Given the description of an element on the screen output the (x, y) to click on. 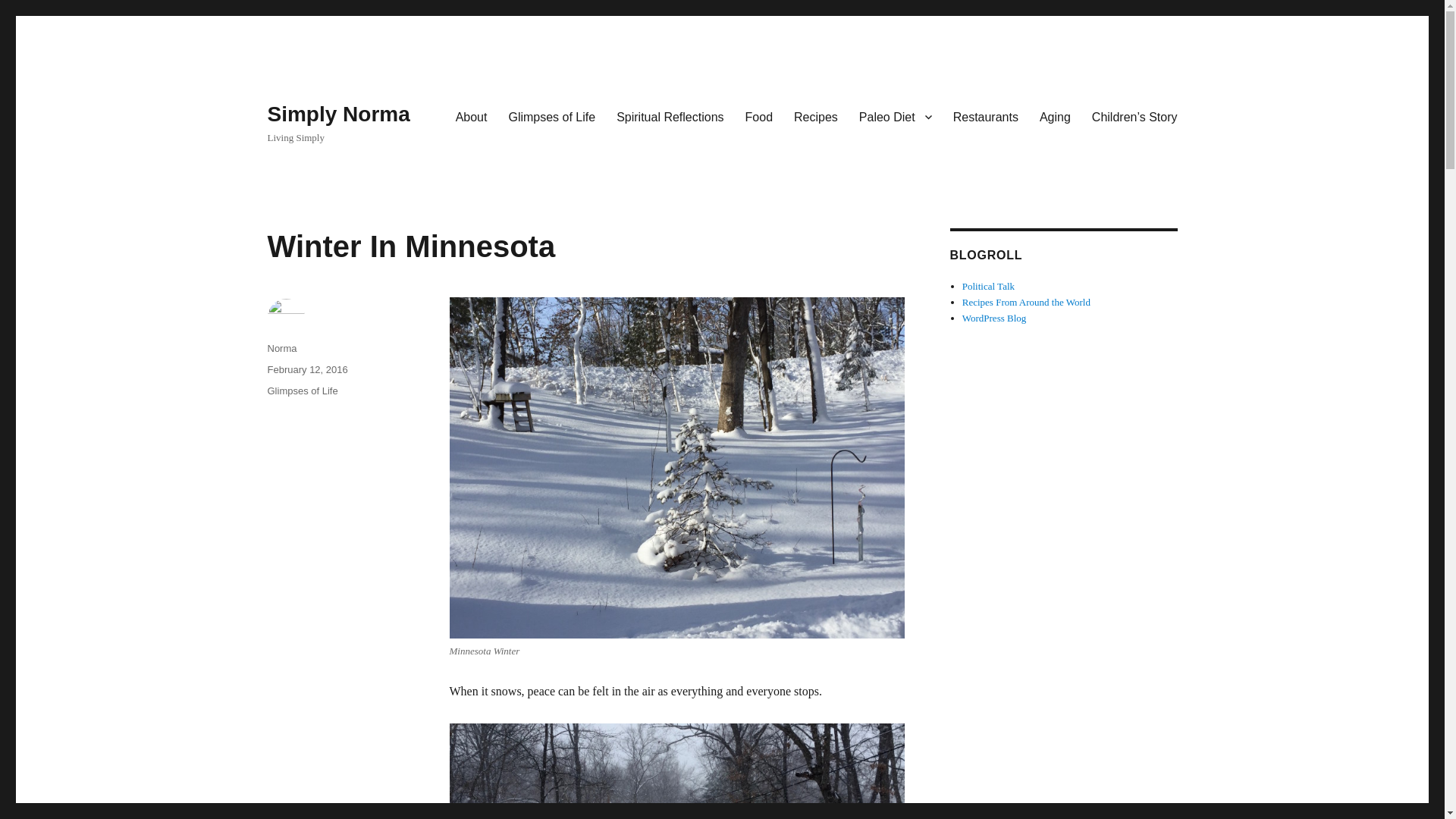
Norma (281, 348)
Glimpses of Life (301, 390)
Food (759, 116)
Glimpses of Life (551, 116)
Political Talk (988, 285)
About (471, 116)
WordPress Blog (994, 317)
Restaurants (985, 116)
February 12, 2016 (306, 369)
Simply Norma (337, 114)
